Given the description of an element on the screen output the (x, y) to click on. 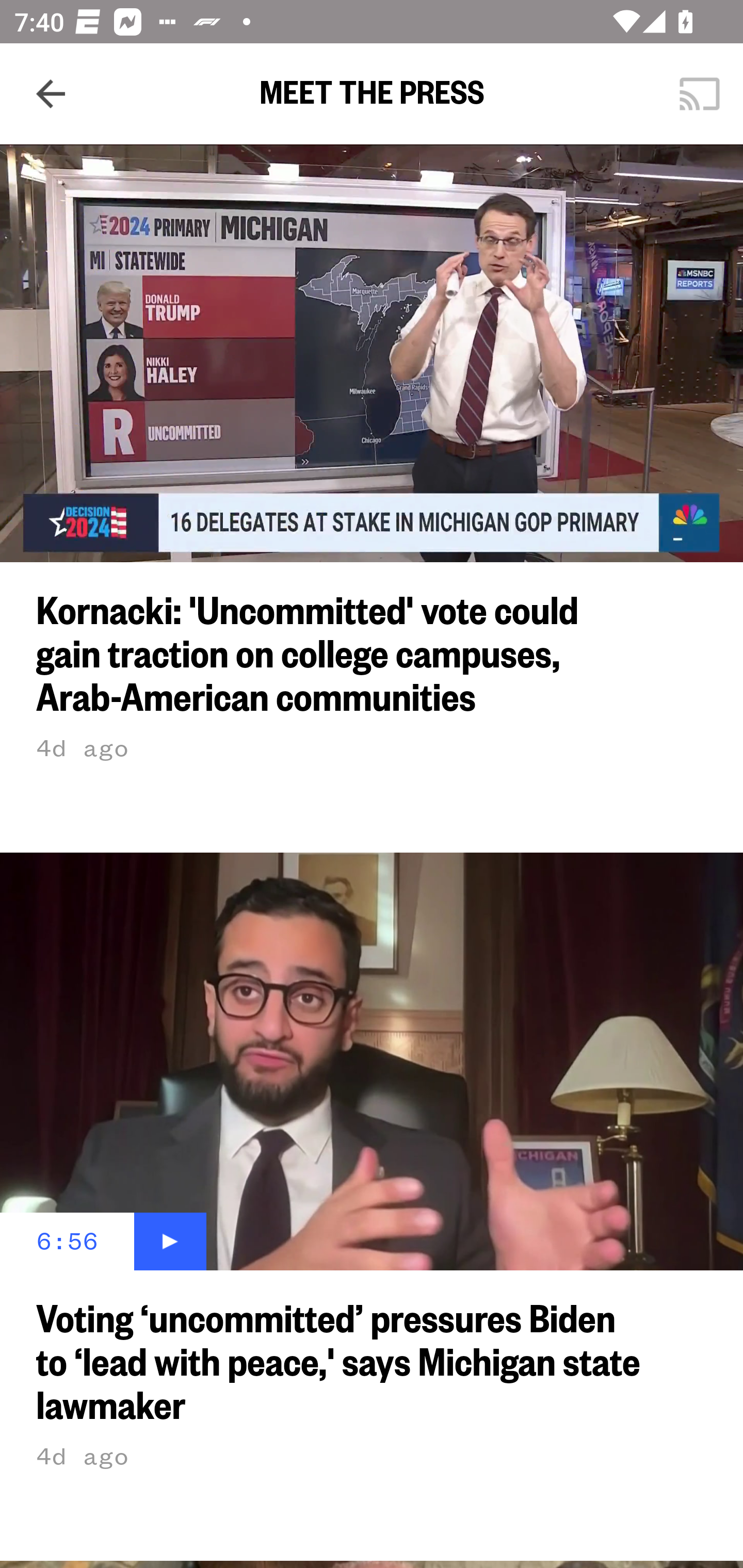
Navigate up (50, 93)
Cast. Disconnected (699, 93)
